Given the description of an element on the screen output the (x, y) to click on. 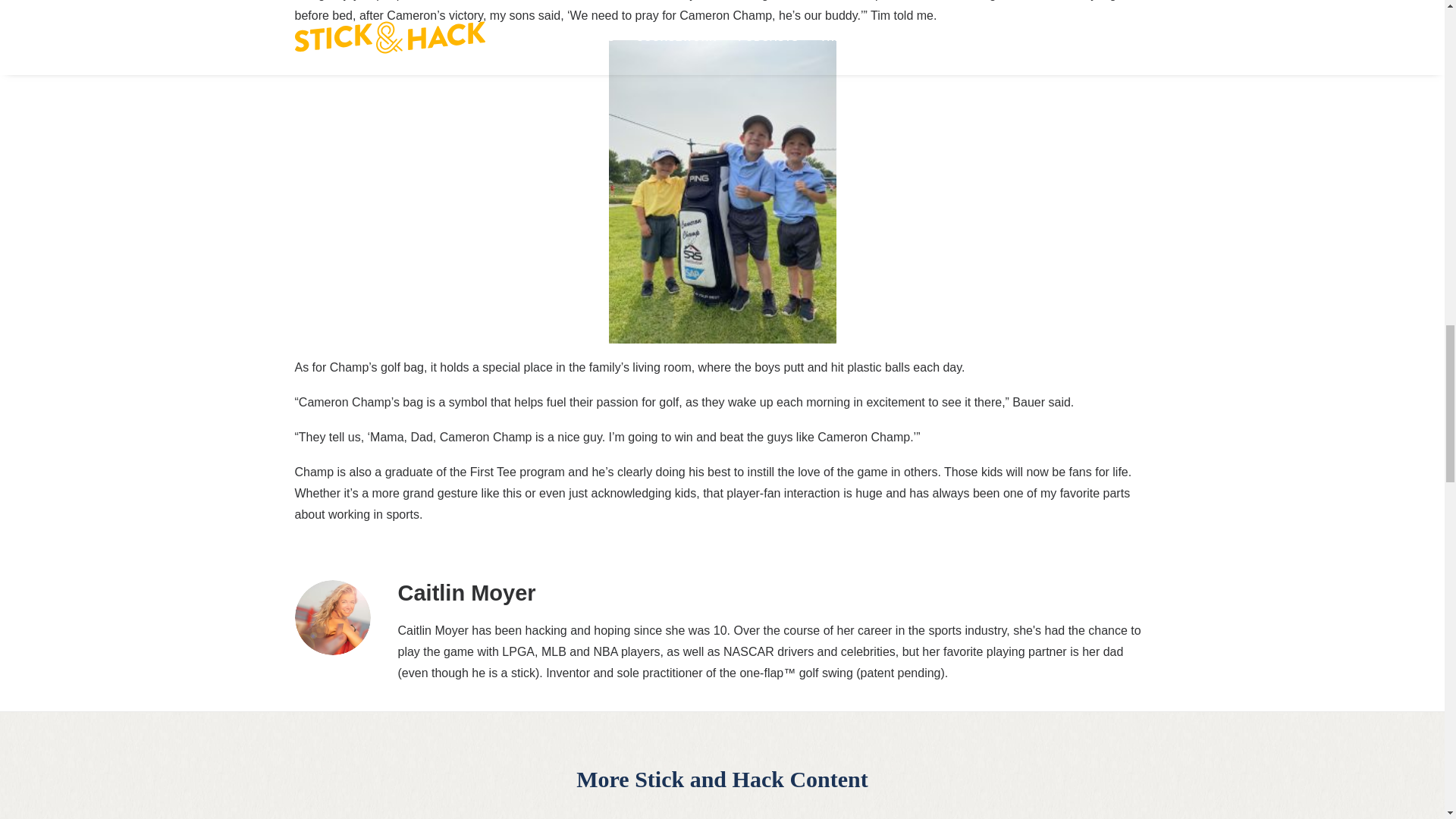
Caitlin Moyer (466, 592)
